Given the description of an element on the screen output the (x, y) to click on. 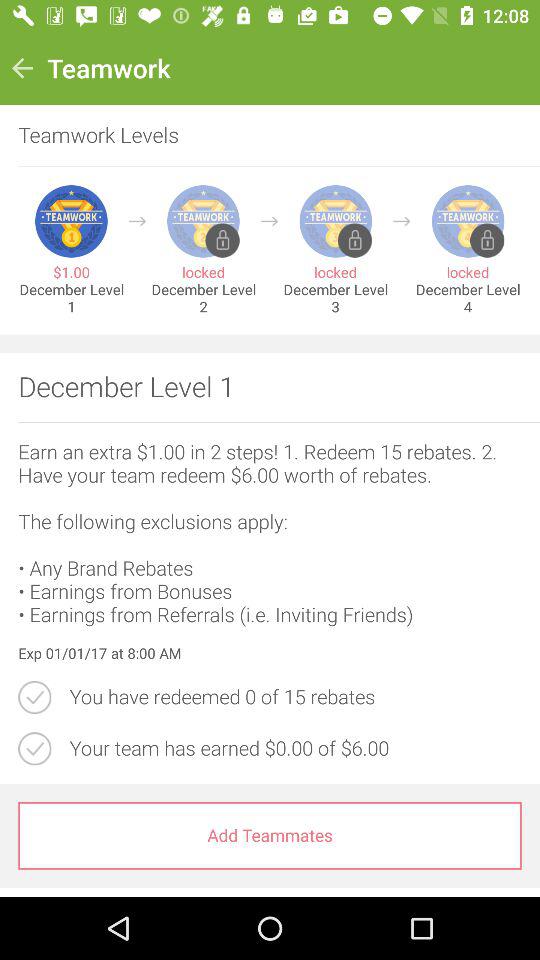
choose icon above teamwork levels (22, 67)
